Given the description of an element on the screen output the (x, y) to click on. 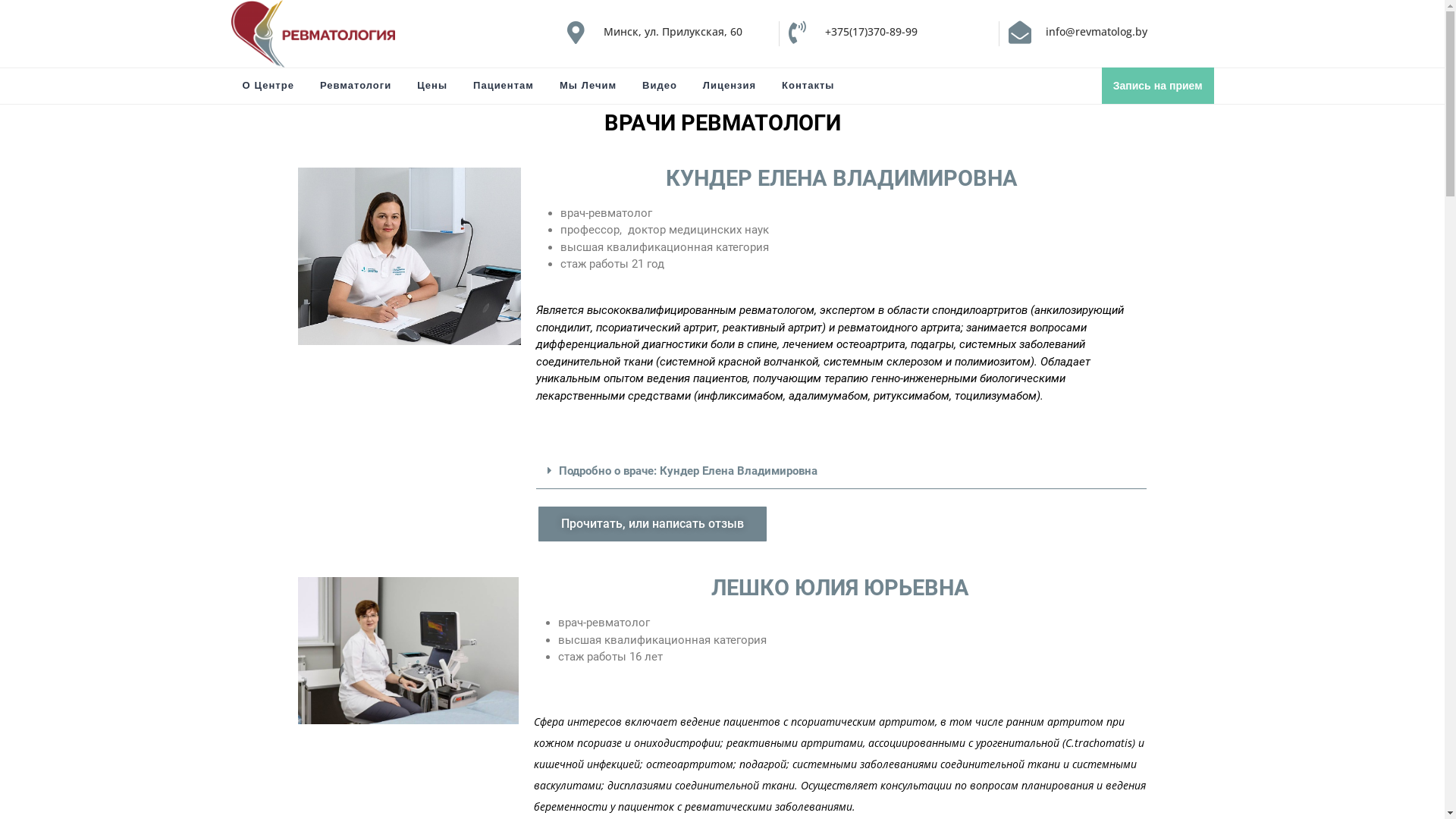
+375(17)370-89-99 Element type: text (871, 31)
info@revmatolog.by Element type: text (1096, 31)
